Given the description of an element on the screen output the (x, y) to click on. 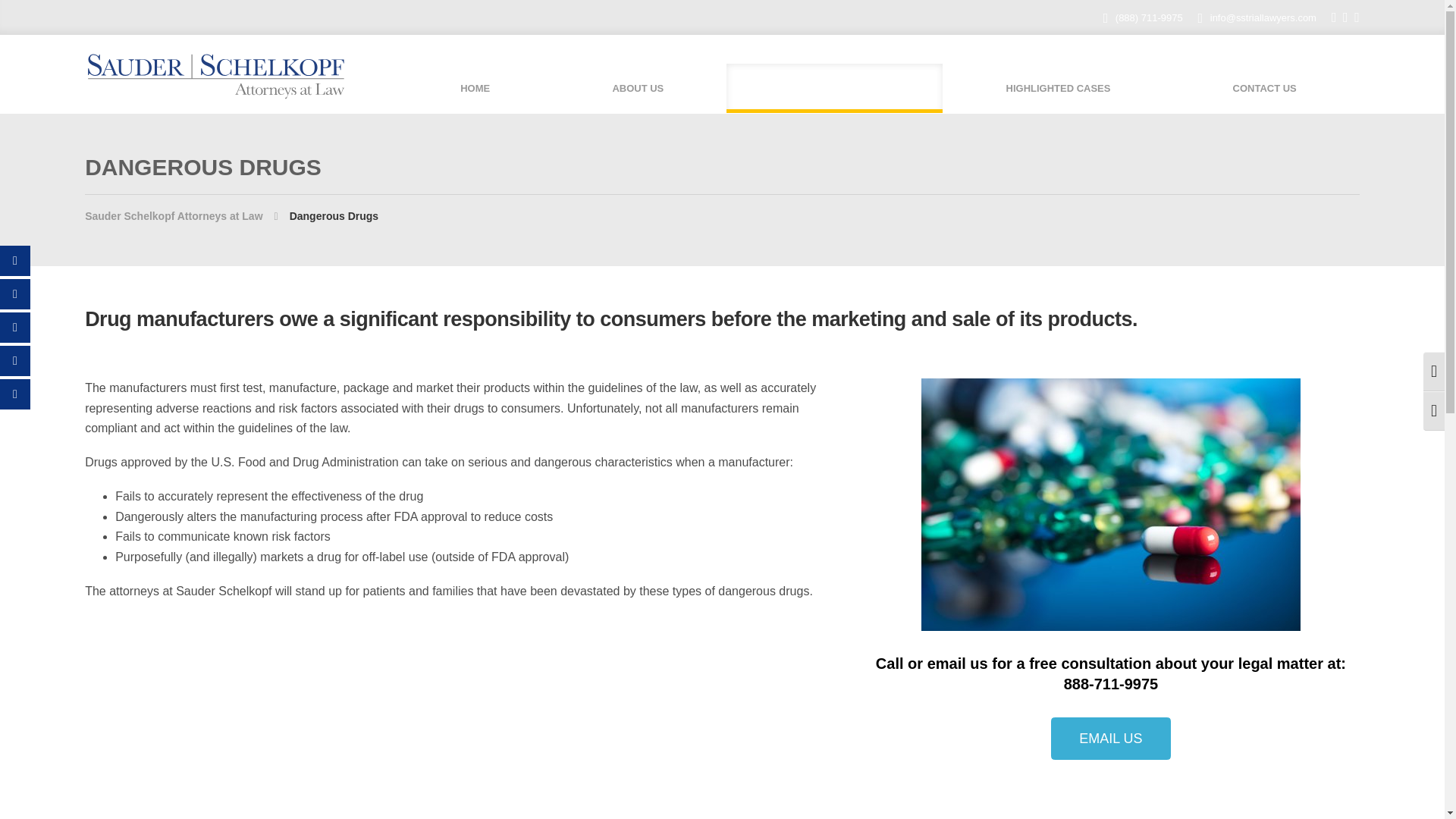
HOME (474, 88)
ABOUT US (637, 88)
PRACTICE AREAS (834, 88)
Go to Sauder Schelkopf Attorneys at Law. (186, 215)
CONTACT US (1264, 88)
Sauder Schelkopf Attorneys at Law (186, 215)
EMAIL US (1110, 738)
HIGHLIGHTED CASES (1057, 88)
